Given the description of an element on the screen output the (x, y) to click on. 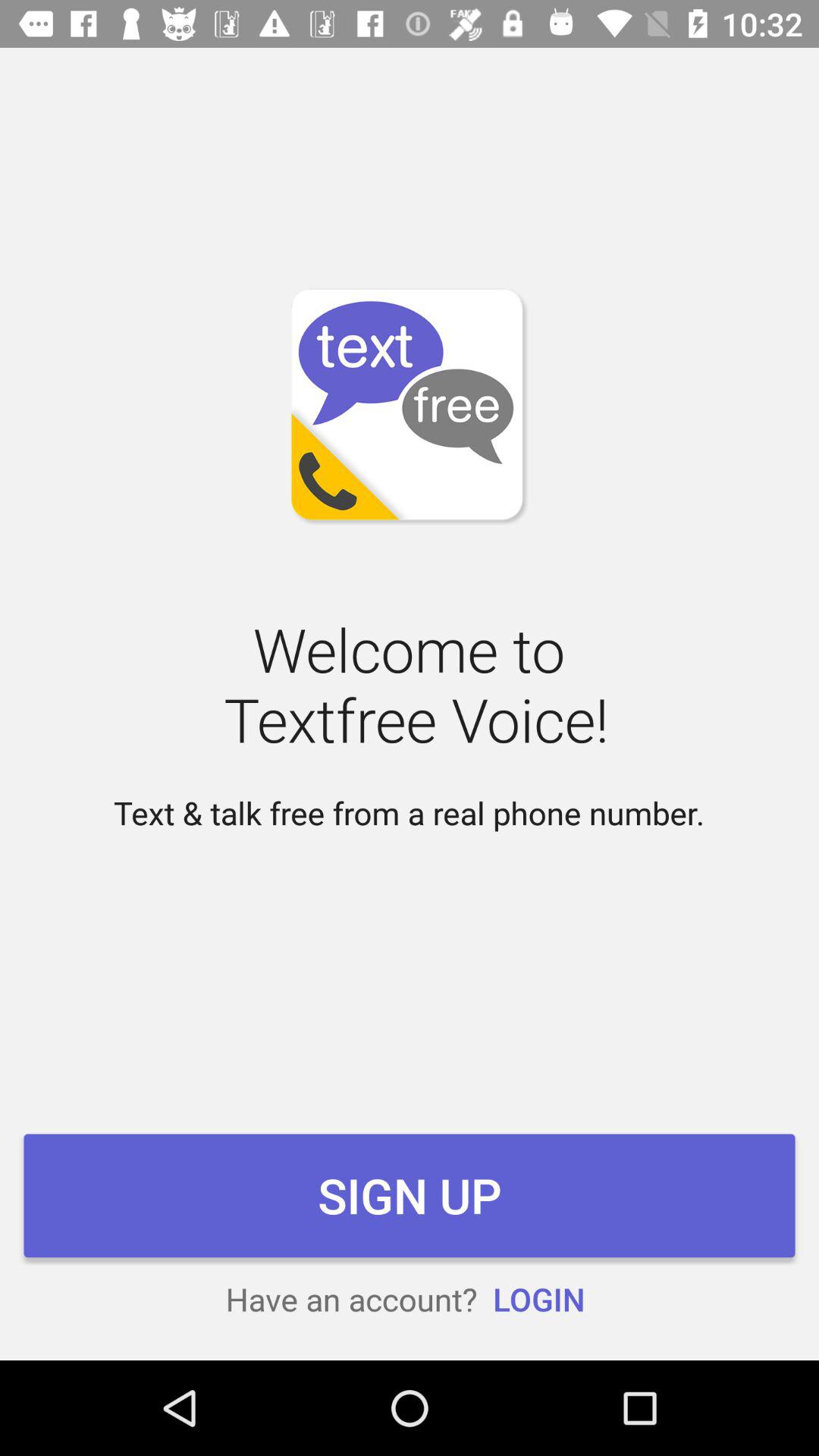
choose the item above the login (409, 1195)
